Given the description of an element on the screen output the (x, y) to click on. 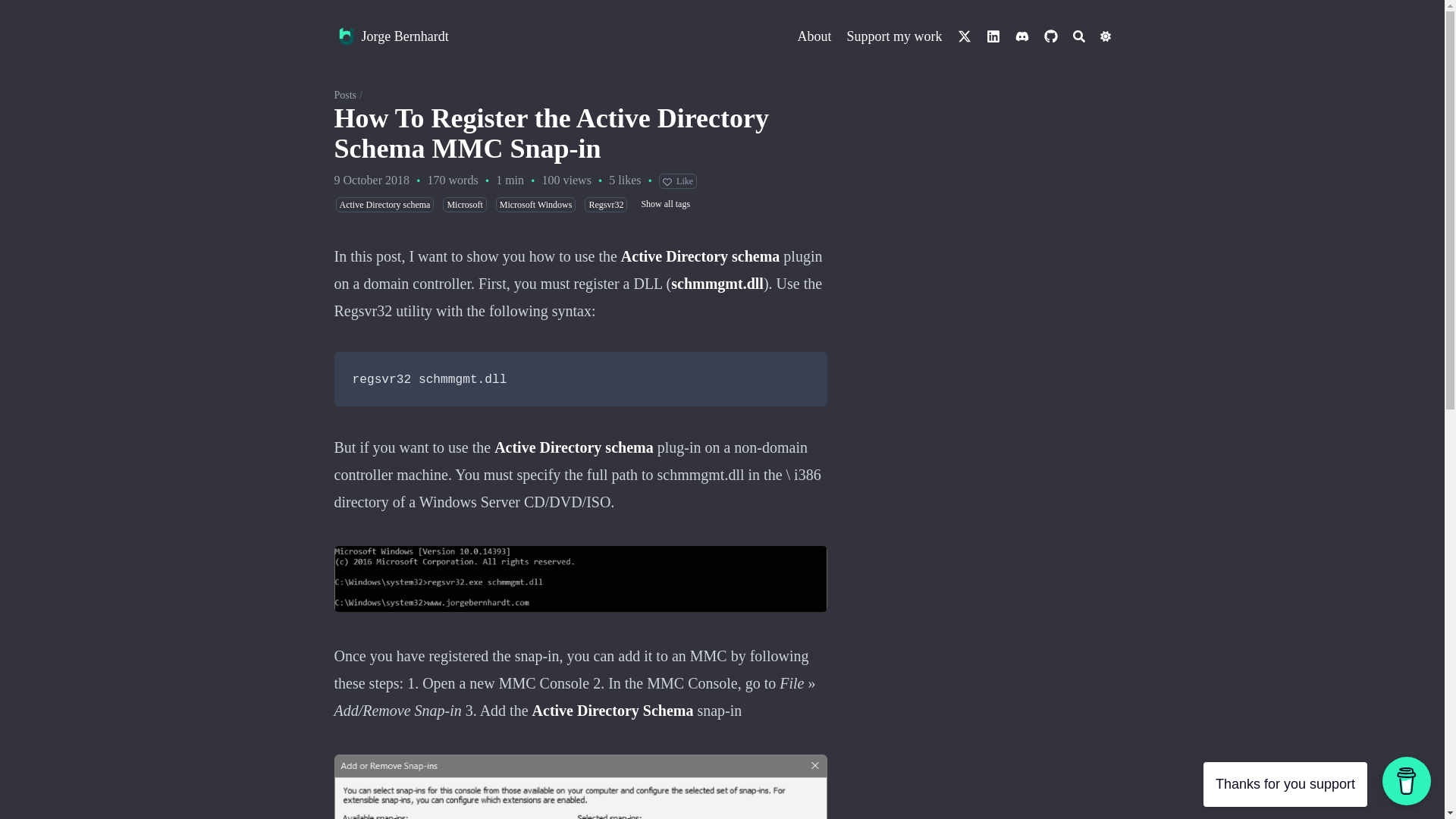
Jorge Bernhardt (345, 36)
views (550, 179)
Jorge Bernhardt (404, 35)
About (814, 35)
Posts (344, 94)
Support my work (893, 35)
 Like (678, 181)
Reading time (510, 180)
About (814, 35)
Support my work (893, 35)
